Given the description of an element on the screen output the (x, y) to click on. 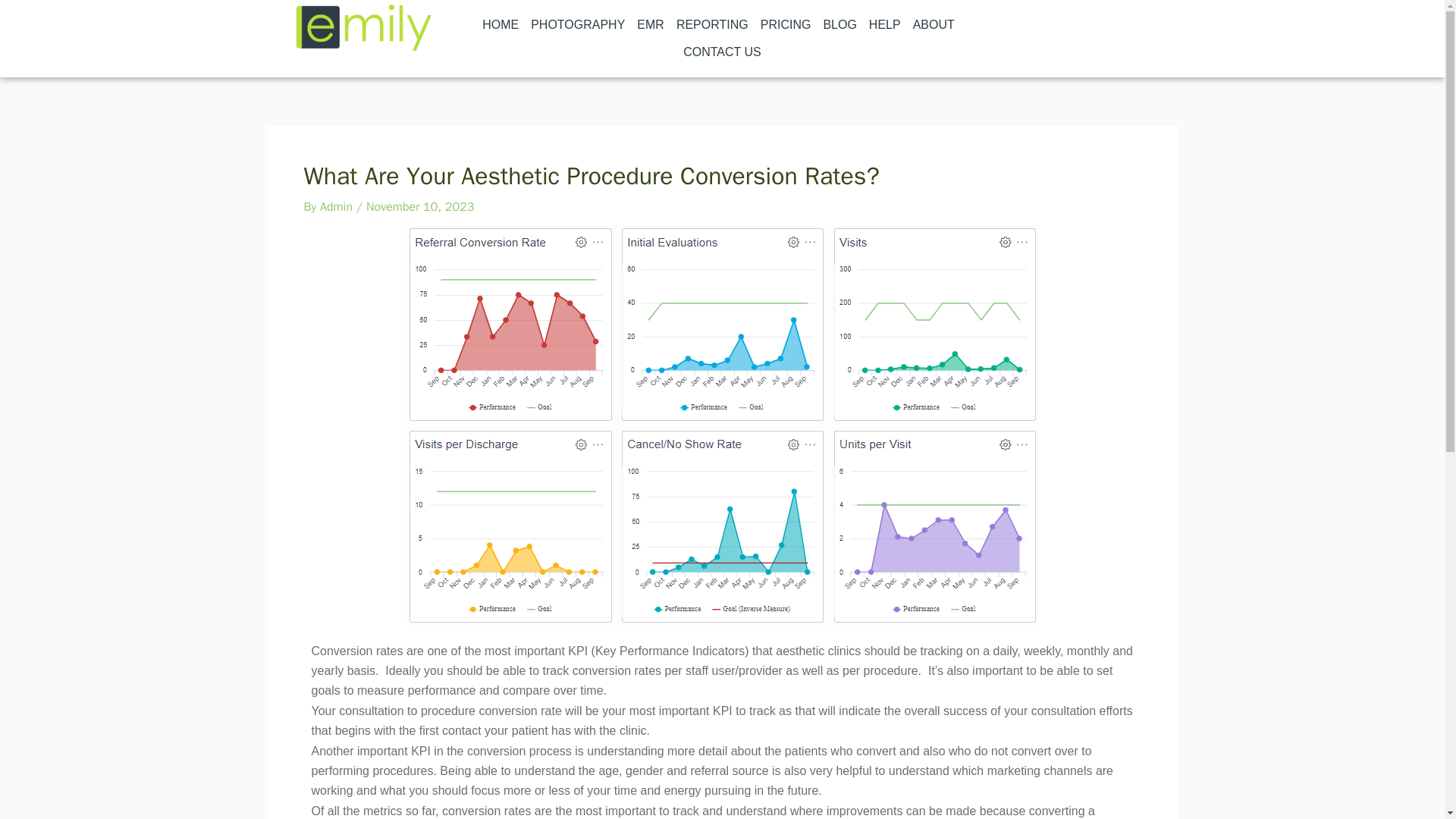
BLOG (838, 24)
EMR (649, 24)
CONTACT US (722, 52)
Admin (338, 206)
ABOUT (937, 24)
HELP (885, 24)
HOME (500, 24)
REPORTING (711, 24)
View all posts by Admin (338, 206)
PHOTOGRAPHY (577, 24)
